Given the description of an element on the screen output the (x, y) to click on. 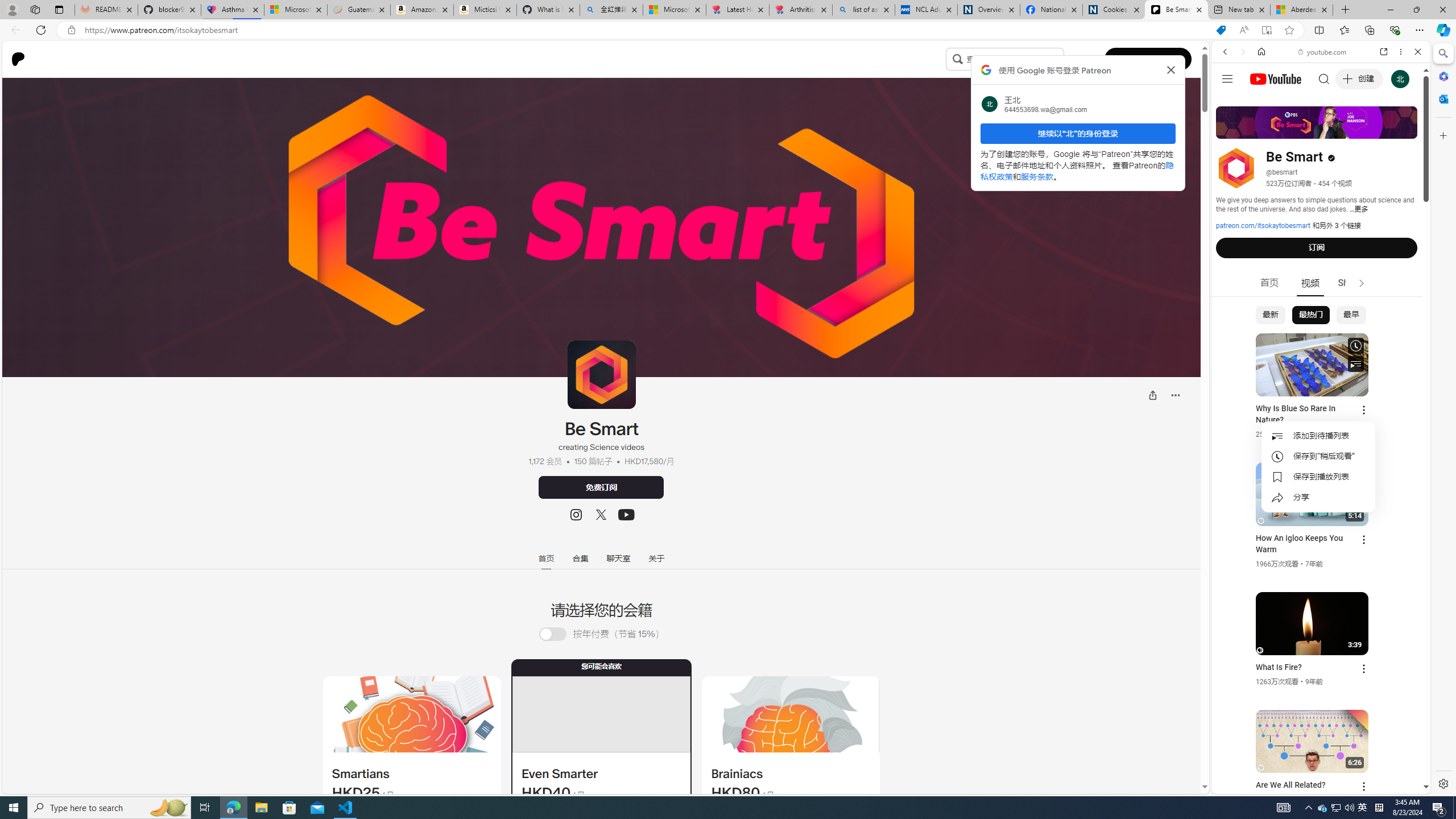
US[ju] (1249, 785)
